Given the description of an element on the screen output the (x, y) to click on. 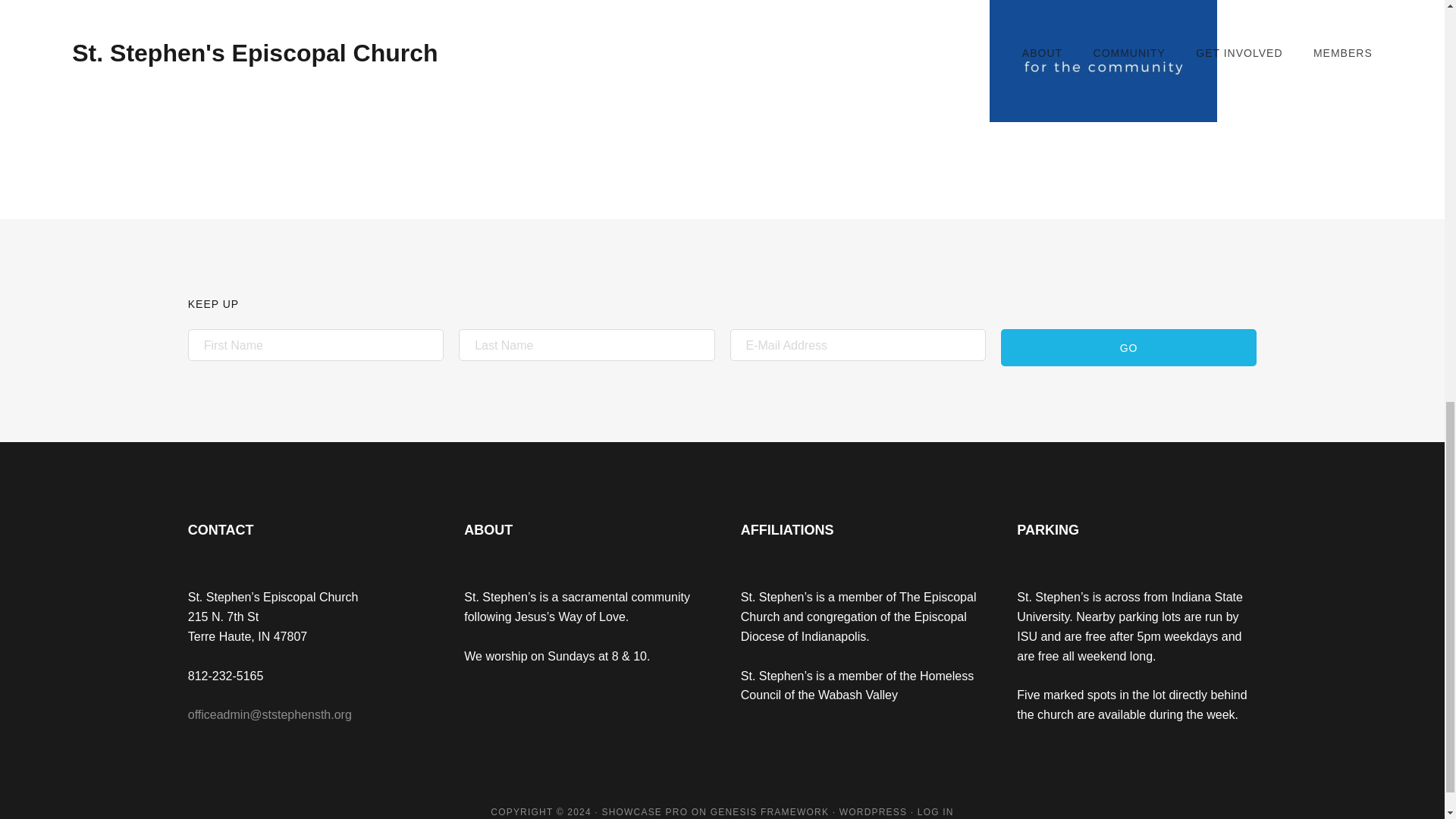
Go (1128, 347)
